Given the description of an element on the screen output the (x, y) to click on. 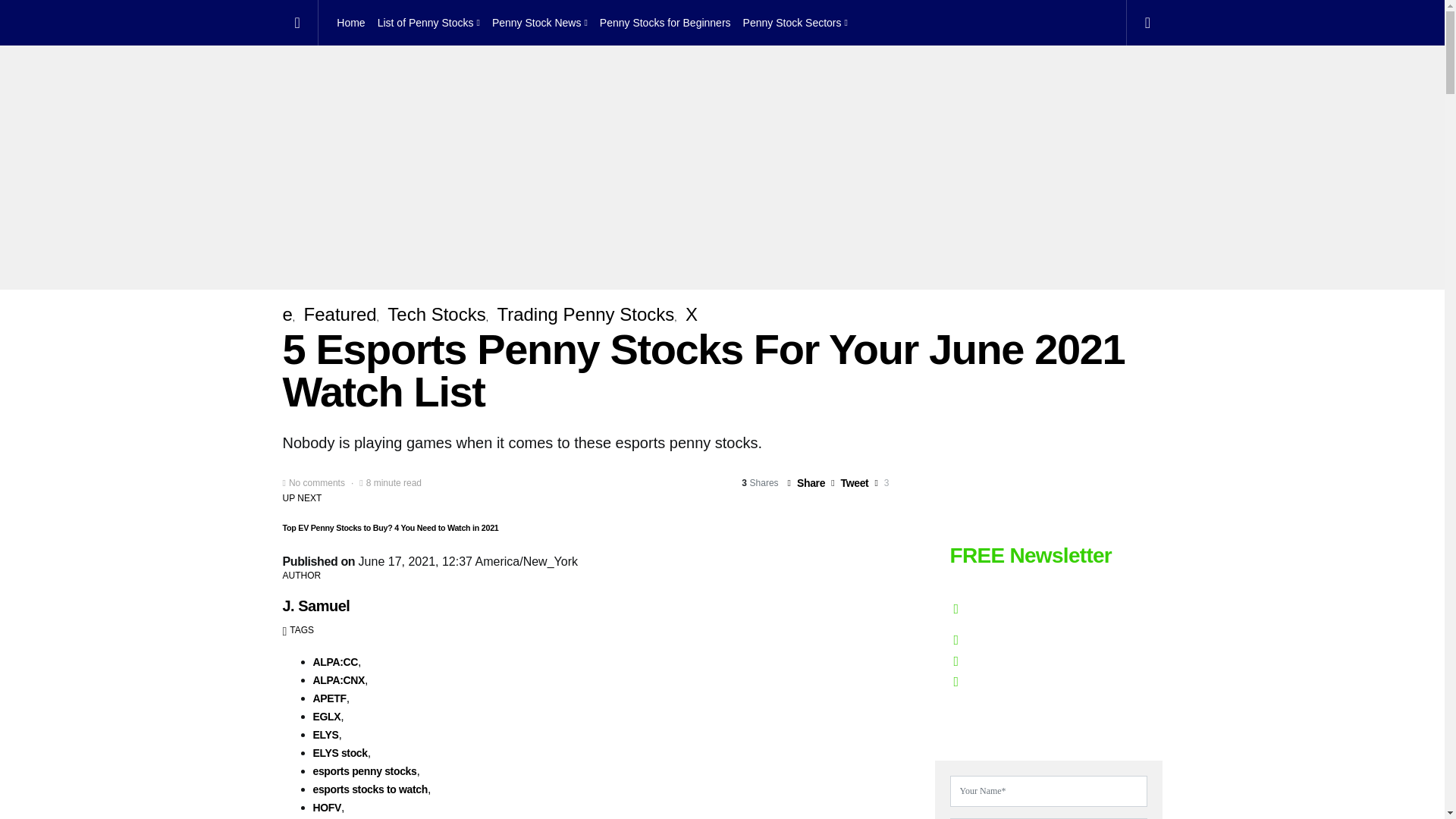
List of Penny Stocks (428, 22)
Penny Stock News (540, 22)
Penny Stocks for Beginners (665, 22)
Penny Stock Sectors (791, 22)
